Given the description of an element on the screen output the (x, y) to click on. 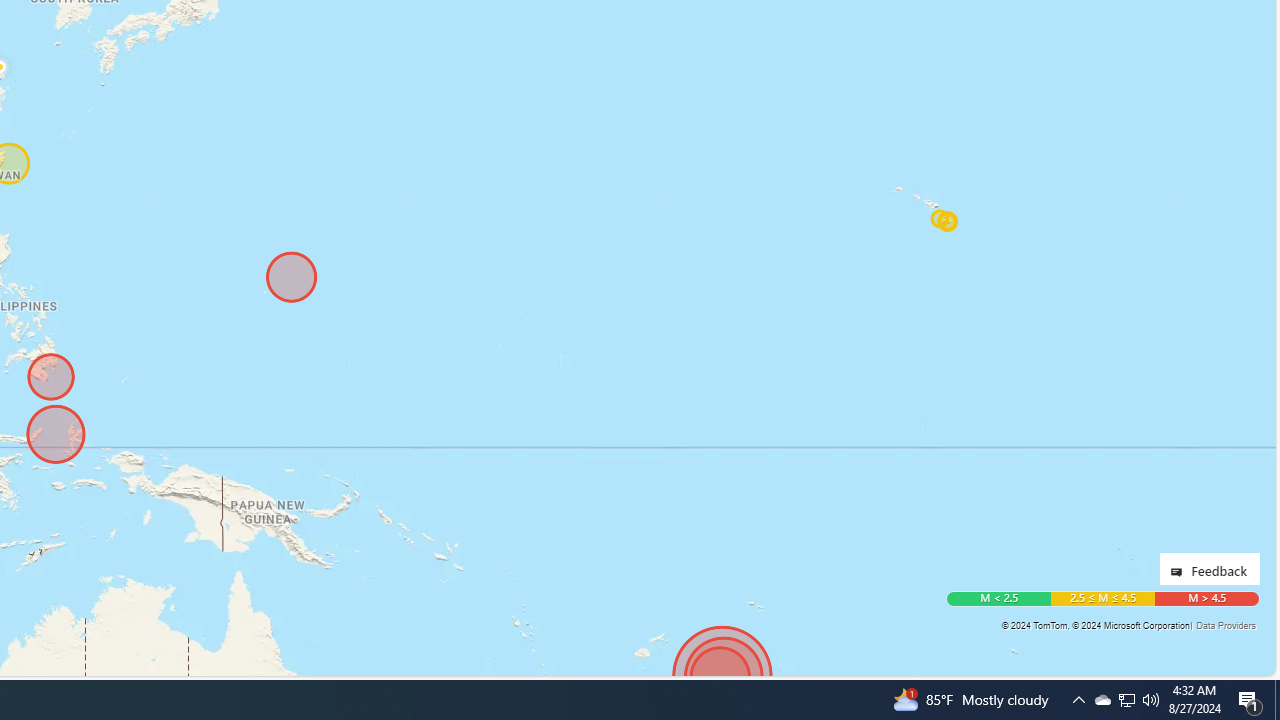
Data Providers (1225, 625)
Class: feedback_link_icon-DS-EntryPoint1-1 (1179, 571)
